Given the description of an element on the screen output the (x, y) to click on. 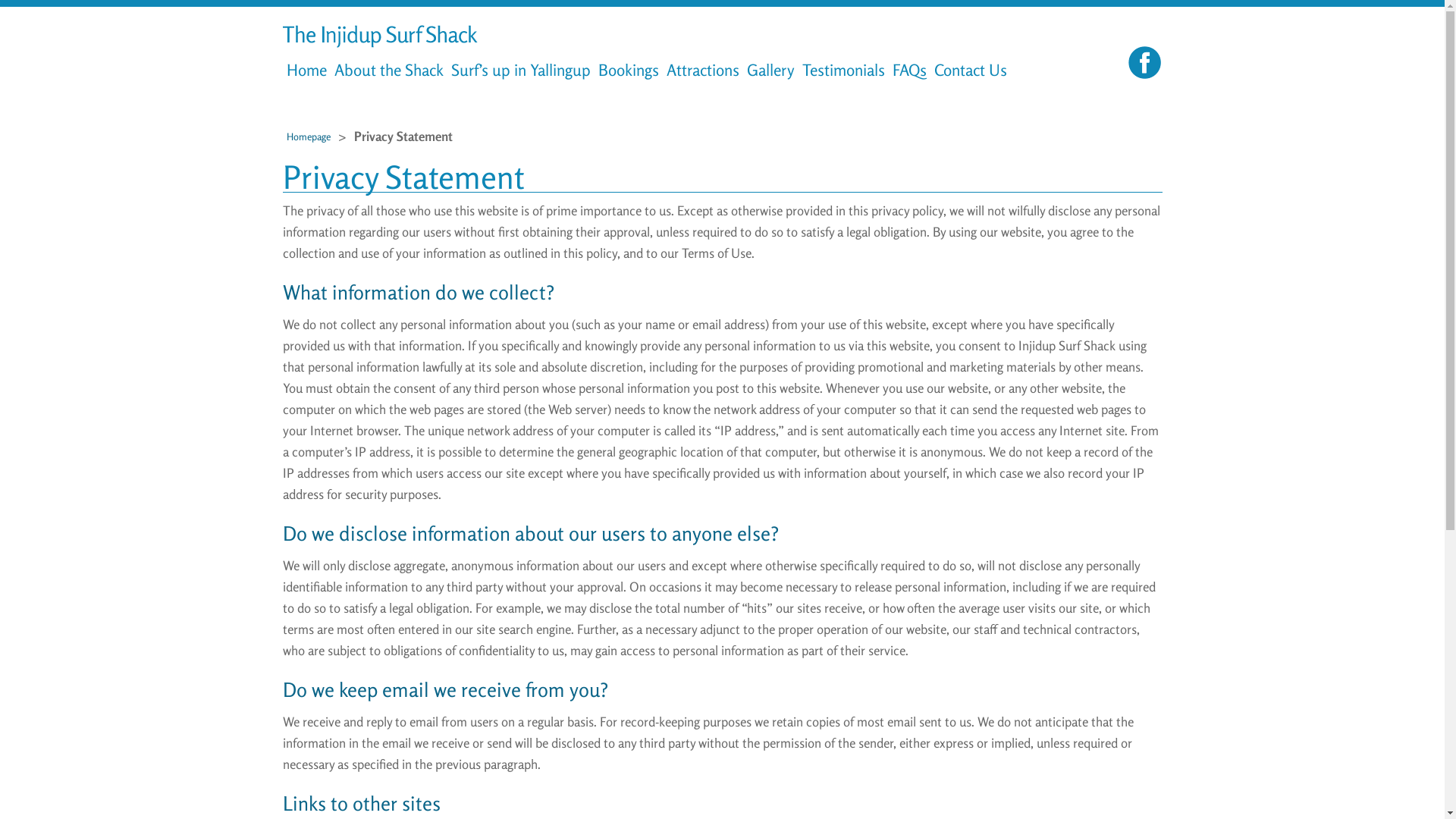
Home Element type: text (305, 69)
Testimonials Element type: text (843, 69)
Contact Us Element type: text (970, 69)
Bookings Element type: text (628, 69)
Gallery Element type: text (770, 69)
About the Shack Element type: text (388, 69)
Attractions Element type: text (702, 69)
Homepage Element type: text (308, 136)
FAQs Element type: text (909, 69)
